Given the description of an element on the screen output the (x, y) to click on. 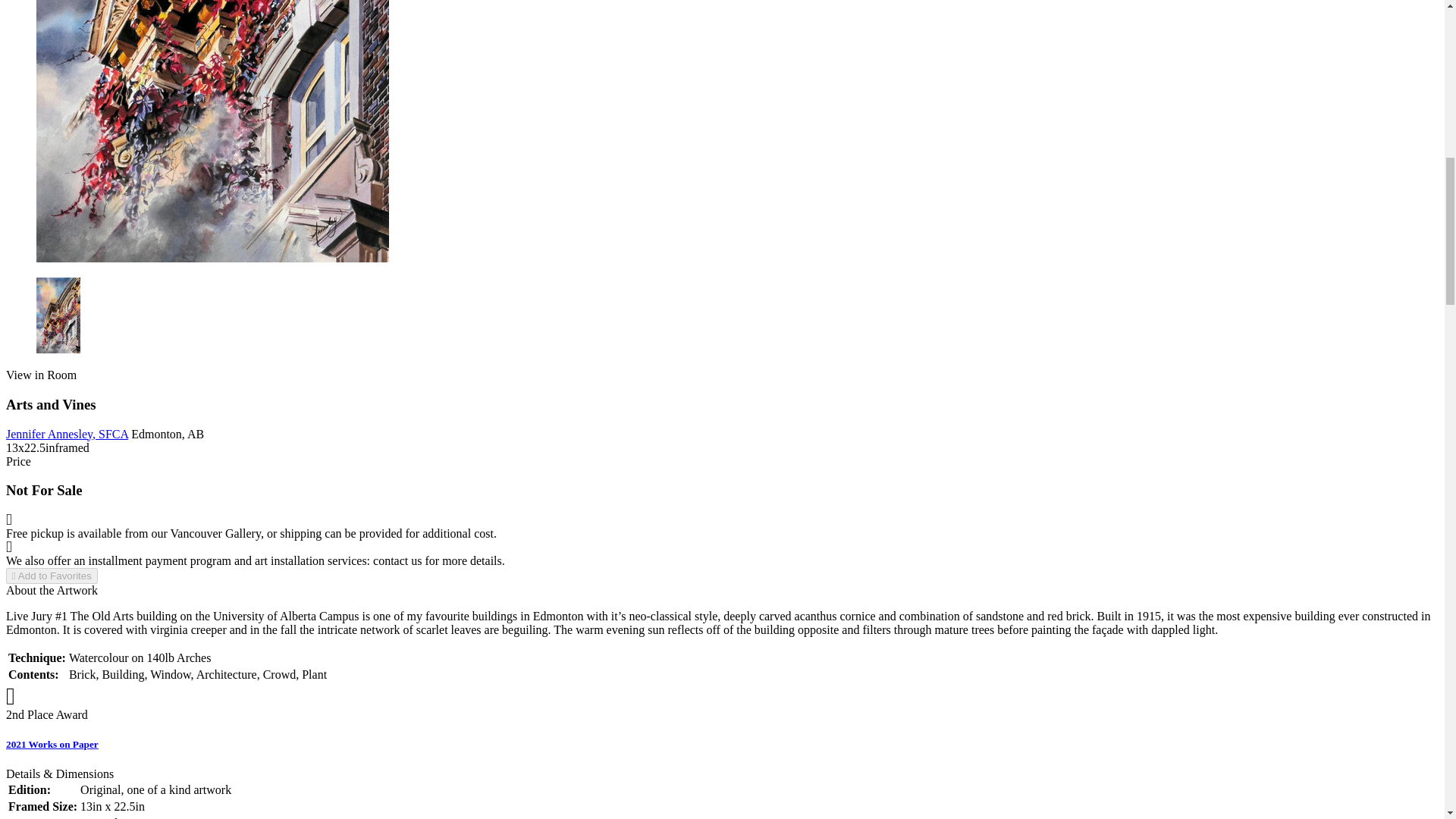
Arts and Vines (212, 131)
Add to Favorites (51, 575)
Jennifer Annesley, SFCA (66, 433)
2021 Works on Paper (52, 744)
